Given the description of an element on the screen output the (x, y) to click on. 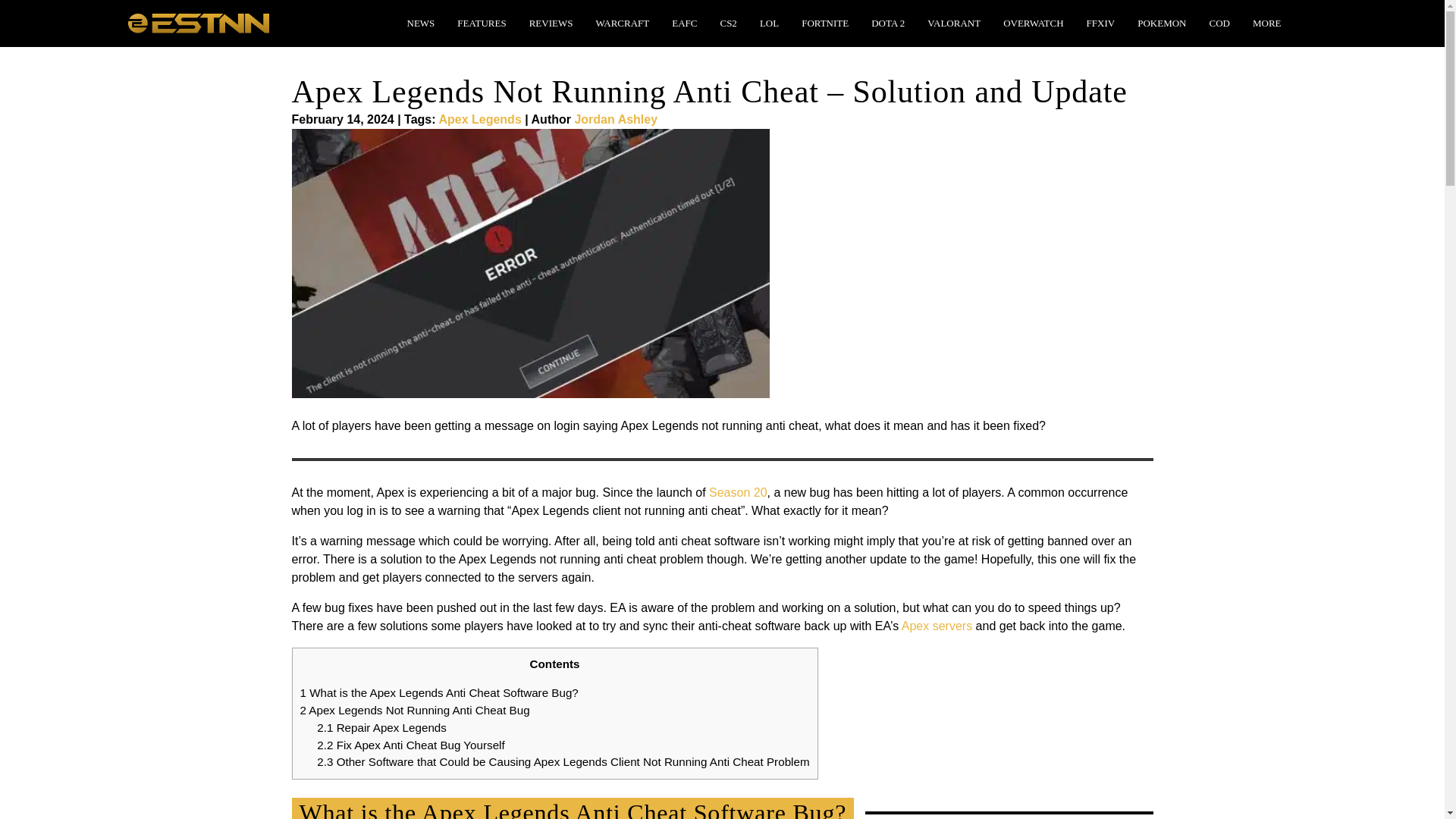
WARCRAFT (622, 23)
REVIEWS (550, 23)
COD (1218, 23)
1 What is the Apex Legends Anti Cheat Software Bug? (438, 692)
2.2 Fix Apex Anti Cheat Bug Yourself (410, 744)
FEATURES (481, 23)
NEWS (420, 23)
Home (197, 21)
Apex Legends (479, 119)
MORE (1266, 23)
LOL (769, 23)
DOTA 2 (887, 23)
Posts by Jordan Ashley (615, 119)
VALORANT (954, 23)
2.1 Repair Apex Legends (381, 727)
